Given the description of an element on the screen output the (x, y) to click on. 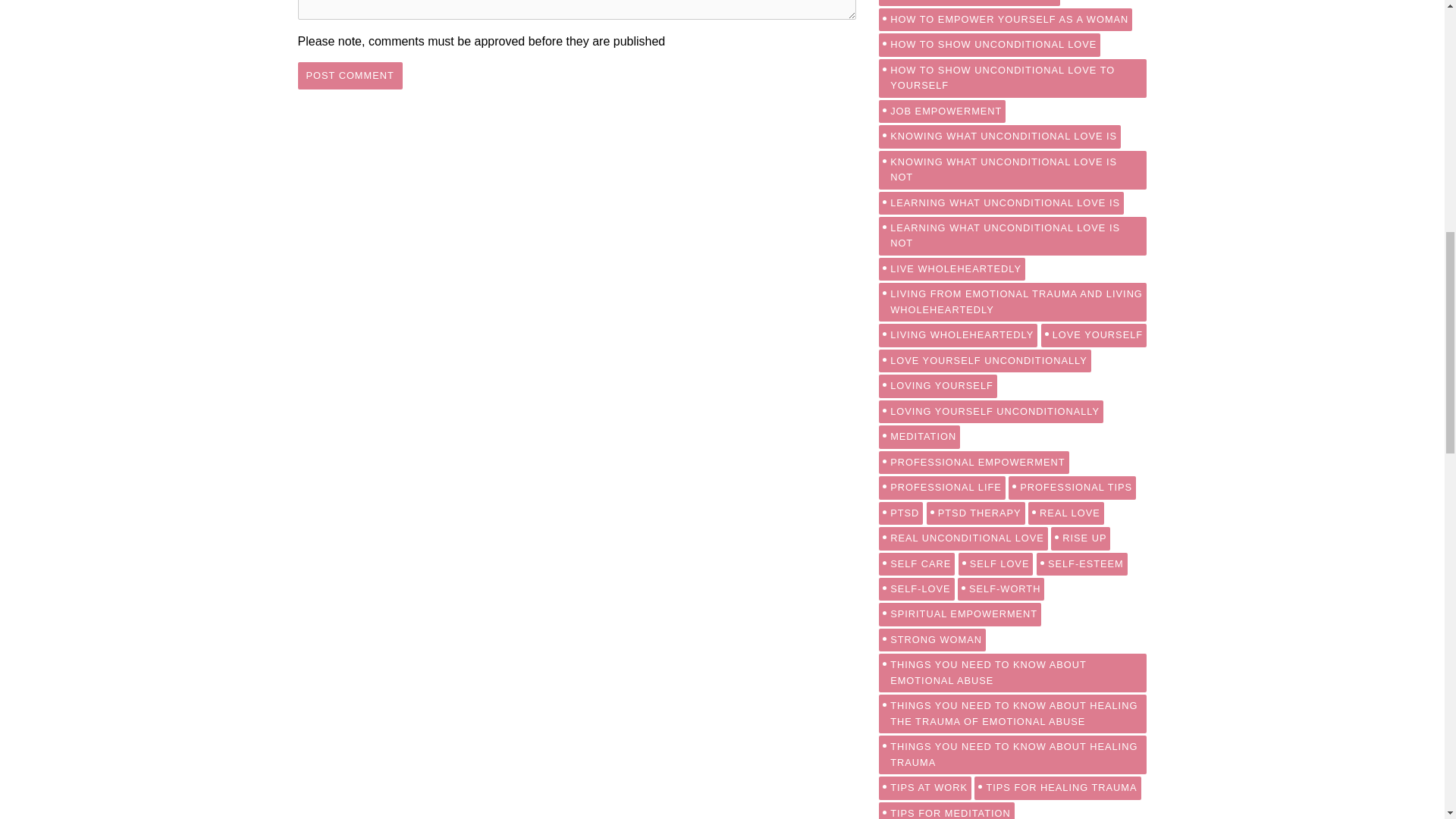
Post comment (349, 75)
Post comment (349, 75)
